Given the description of an element on the screen output the (x, y) to click on. 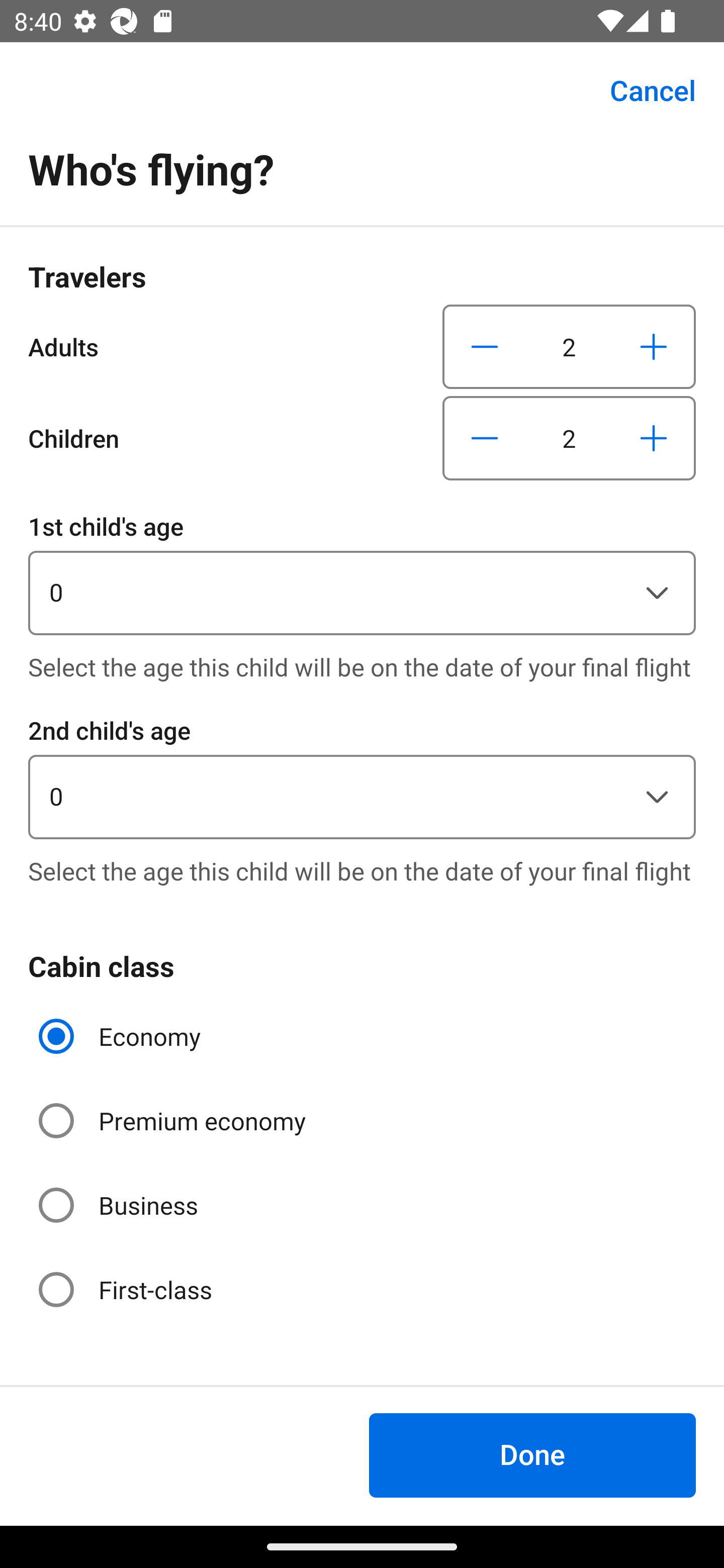
Cancel (641, 90)
Decrease (484, 346)
Increase (653, 346)
Decrease (484, 437)
Increase (653, 437)
1st child's age
 1st child's age 0 (361, 571)
2nd child's age
 2nd child's age 0 (361, 774)
Economy (121, 1036)
Premium economy (174, 1120)
Business (120, 1205)
First-class (126, 1289)
Done (532, 1454)
